Given the description of an element on the screen output the (x, y) to click on. 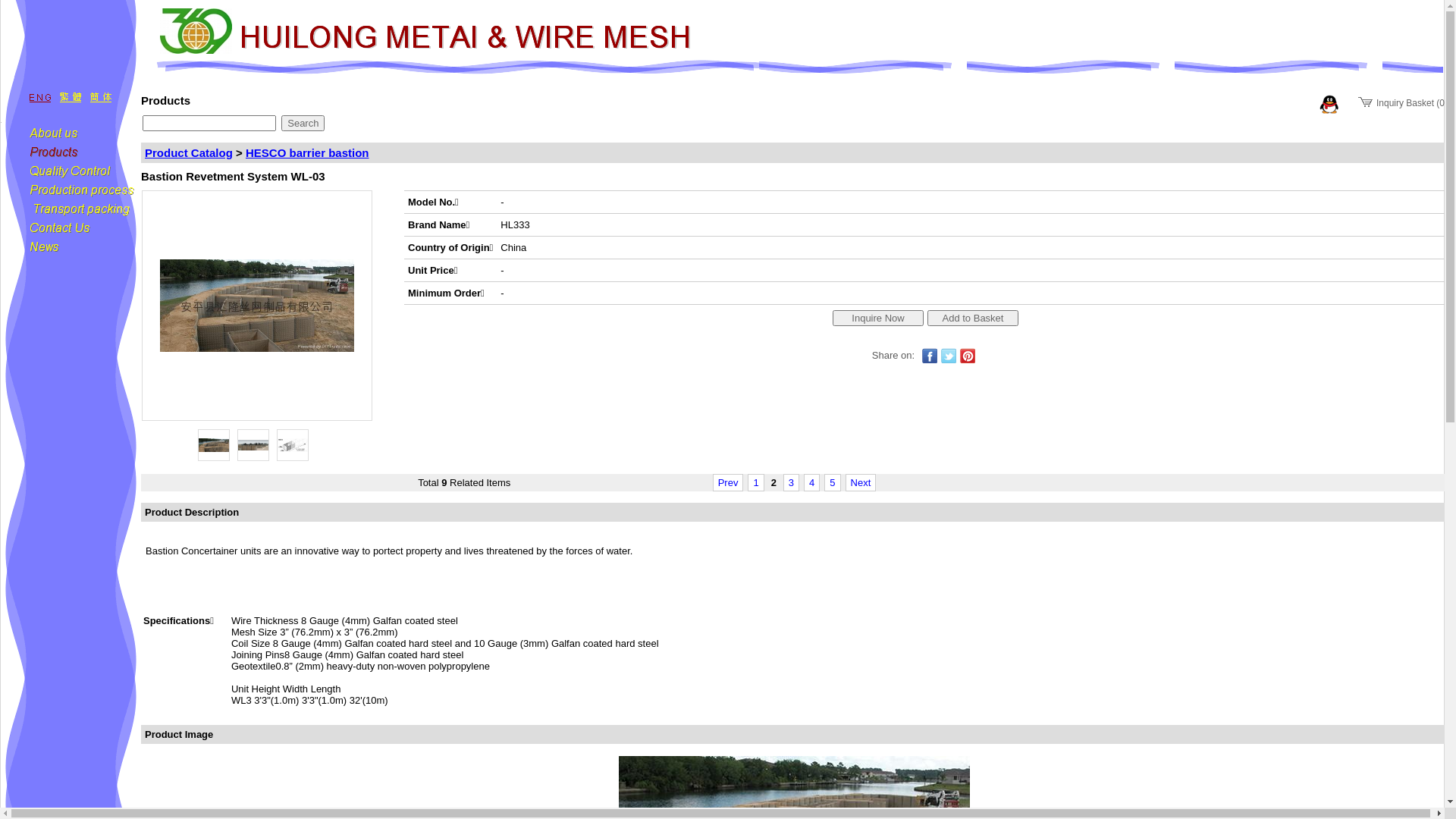
Bastion Revetment System WL-03 Element type: hover (292, 444)
Twitter Element type: text (948, 355)
Facebook Element type: text (929, 355)
Product Catalog Element type: text (188, 152)
Next Element type: text (860, 482)
5 Element type: text (831, 482)
3 Element type: text (790, 482)
4 Element type: text (811, 482)
1 Element type: text (755, 482)
Add to Basket Element type: text (972, 317)
Inquiry Basket (0) Element type: text (1402, 102)
4 Element type: text (811, 482)
Prev Element type: text (728, 482)
5 Element type: text (832, 482)
Bastion Revetment System WL-03 Element type: hover (253, 444)
Next Element type: text (860, 482)
Prev Element type: text (727, 482)
Bastion Revetment System WL-03 Element type: hover (213, 444)
HESCO barrier bastion Element type: text (307, 152)
3 Element type: text (791, 482)
1 Element type: text (755, 482)
Pinterest Element type: text (967, 355)
Inquire Now Element type: text (877, 317)
Search Element type: text (302, 123)
